Given the description of an element on the screen output the (x, y) to click on. 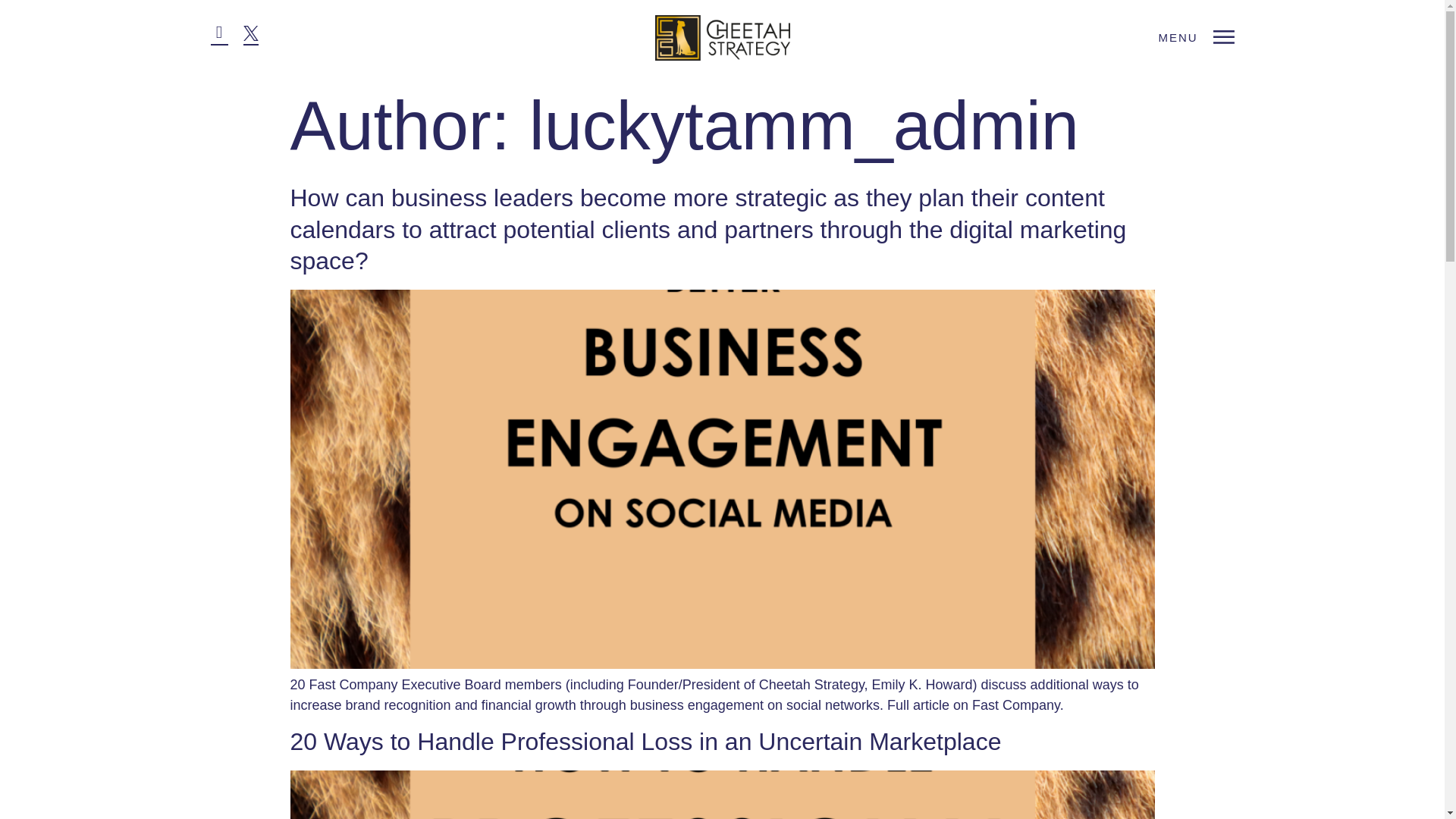
MENU (1195, 37)
